Given the description of an element on the screen output the (x, y) to click on. 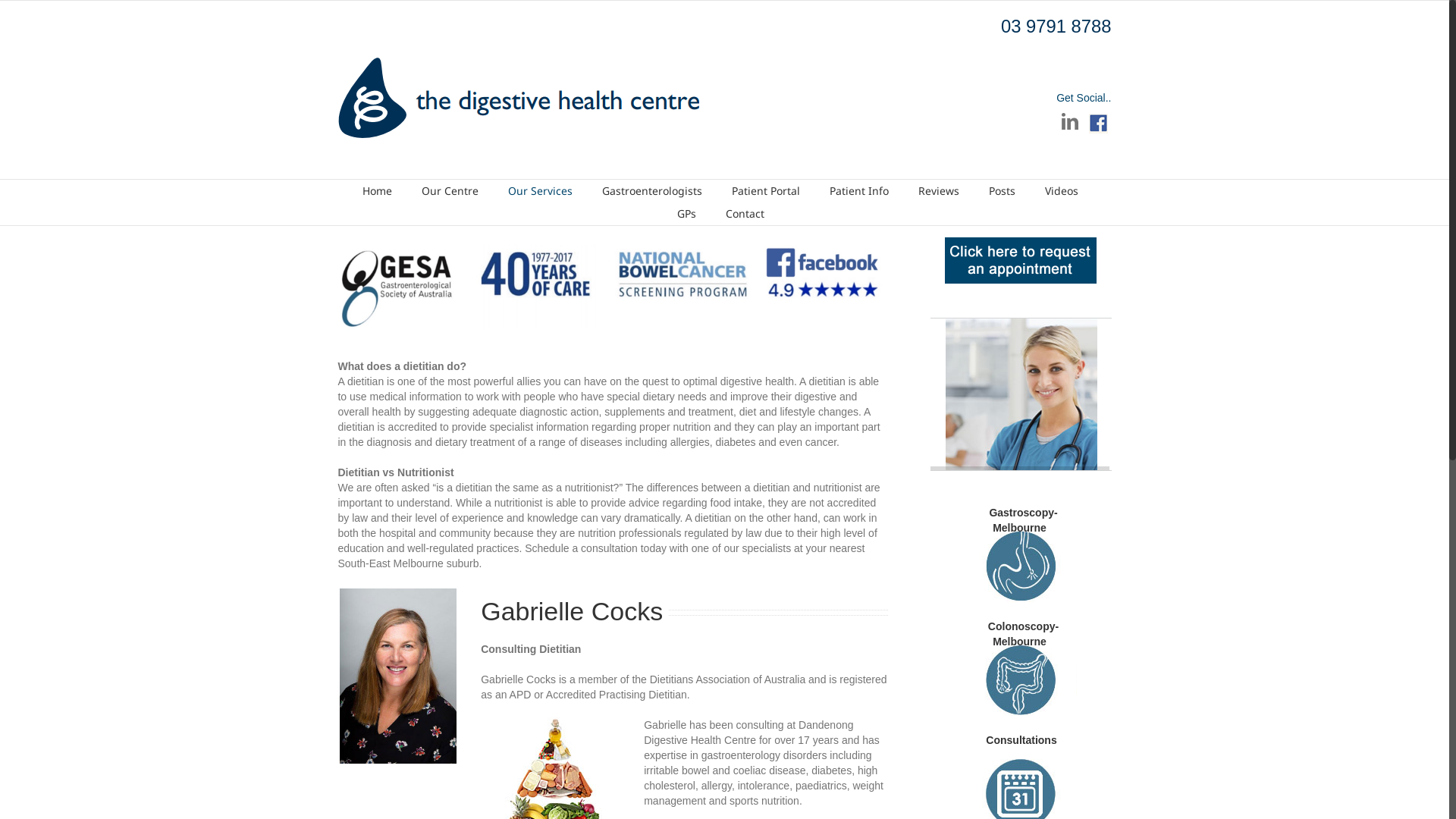
Consultations Element type: text (1021, 739)
Posts Element type: text (1001, 190)
Gastroscopy-Melbourne Element type: text (1021, 519)
LinkedIn Element type: text (1069, 120)
Contact Element type: text (743, 213)
Videos Element type: text (1061, 190)
Colonoscopy-Melbourne Element type: text (1021, 633)
Gabrielle-Cocks Element type: hover (397, 675)
Home Element type: text (377, 190)
Reviews Element type: text (938, 190)
Gastroenterologists Element type: text (652, 190)
GPs Element type: text (685, 213)
03 9791 8788 Element type: text (1056, 25)
Our Services Element type: text (540, 190)
Our Centre Element type: text (449, 190)
Patient Info Element type: text (858, 190)
Patient Portal Element type: text (765, 190)
